Given the description of an element on the screen output the (x, y) to click on. 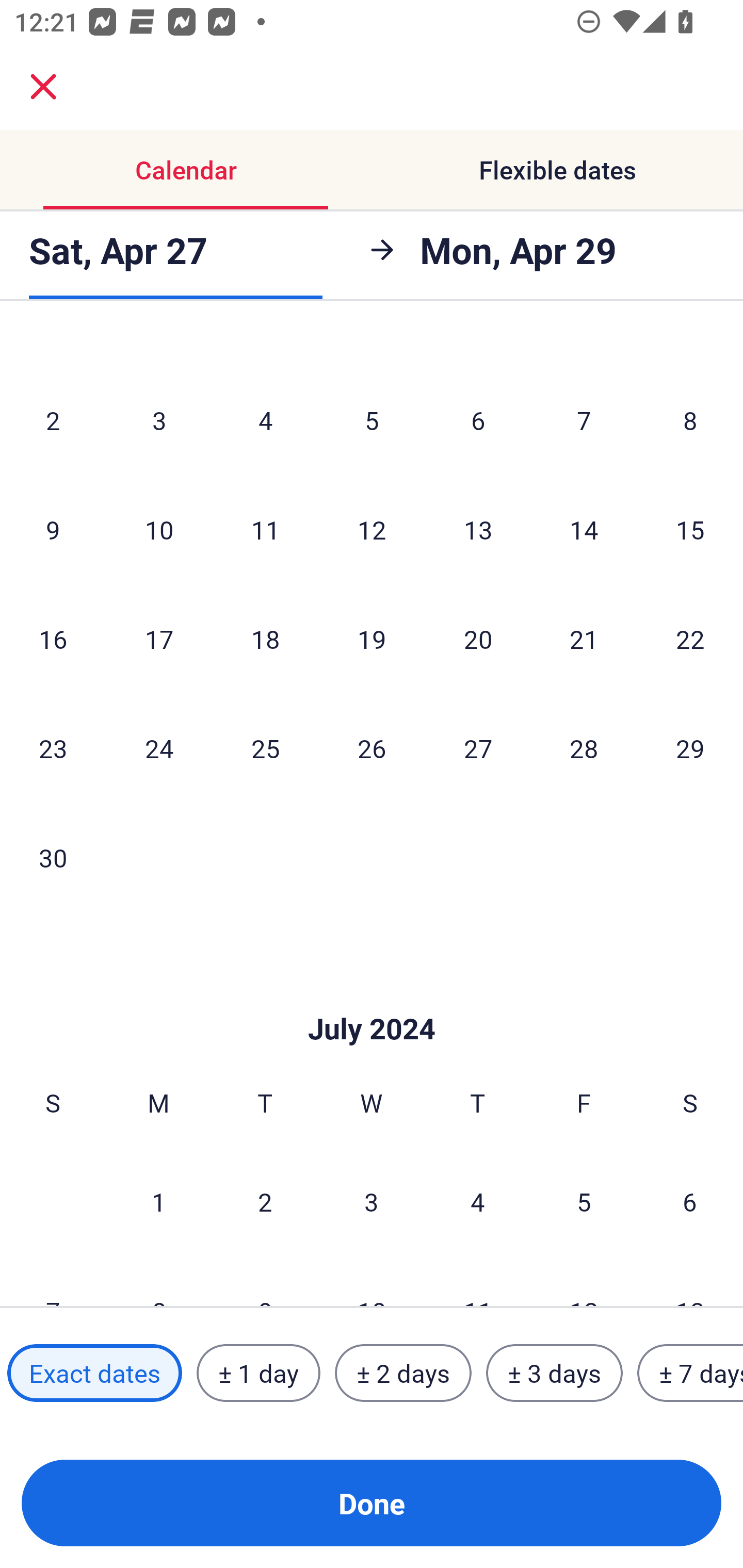
close. (43, 86)
Flexible dates (557, 170)
2 Sunday, June 2, 2024 (53, 419)
3 Monday, June 3, 2024 (159, 419)
4 Tuesday, June 4, 2024 (265, 419)
5 Wednesday, June 5, 2024 (371, 419)
6 Thursday, June 6, 2024 (477, 419)
7 Friday, June 7, 2024 (584, 419)
8 Saturday, June 8, 2024 (690, 419)
9 Sunday, June 9, 2024 (53, 528)
10 Monday, June 10, 2024 (159, 528)
11 Tuesday, June 11, 2024 (265, 528)
12 Wednesday, June 12, 2024 (371, 528)
13 Thursday, June 13, 2024 (477, 528)
14 Friday, June 14, 2024 (584, 528)
15 Saturday, June 15, 2024 (690, 528)
16 Sunday, June 16, 2024 (53, 638)
17 Monday, June 17, 2024 (159, 638)
18 Tuesday, June 18, 2024 (265, 638)
19 Wednesday, June 19, 2024 (371, 638)
20 Thursday, June 20, 2024 (477, 638)
21 Friday, June 21, 2024 (584, 638)
22 Saturday, June 22, 2024 (690, 638)
23 Sunday, June 23, 2024 (53, 747)
24 Monday, June 24, 2024 (159, 747)
25 Tuesday, June 25, 2024 (265, 747)
26 Wednesday, June 26, 2024 (371, 747)
27 Thursday, June 27, 2024 (477, 747)
28 Friday, June 28, 2024 (584, 747)
29 Saturday, June 29, 2024 (690, 747)
30 Sunday, June 30, 2024 (53, 857)
Skip to Done (371, 997)
1 Monday, July 1, 2024 (158, 1201)
2 Tuesday, July 2, 2024 (264, 1201)
3 Wednesday, July 3, 2024 (371, 1201)
4 Thursday, July 4, 2024 (477, 1201)
5 Friday, July 5, 2024 (583, 1201)
6 Saturday, July 6, 2024 (689, 1201)
Exact dates (94, 1372)
± 1 day (258, 1372)
± 2 days (403, 1372)
± 3 days (553, 1372)
± 7 days (690, 1372)
Done (371, 1502)
